Given the description of an element on the screen output the (x, y) to click on. 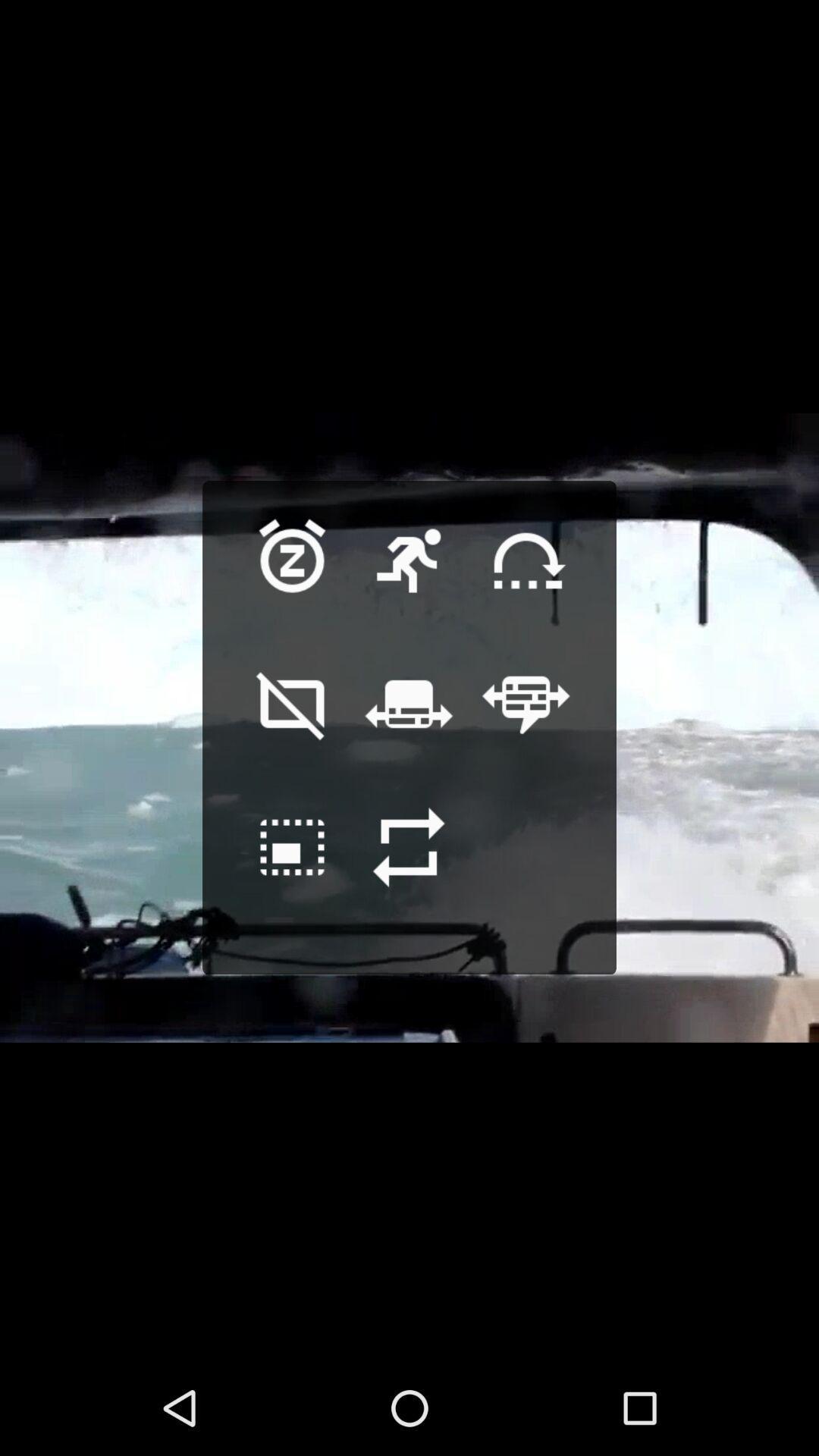
running (408, 584)
